Given the description of an element on the screen output the (x, y) to click on. 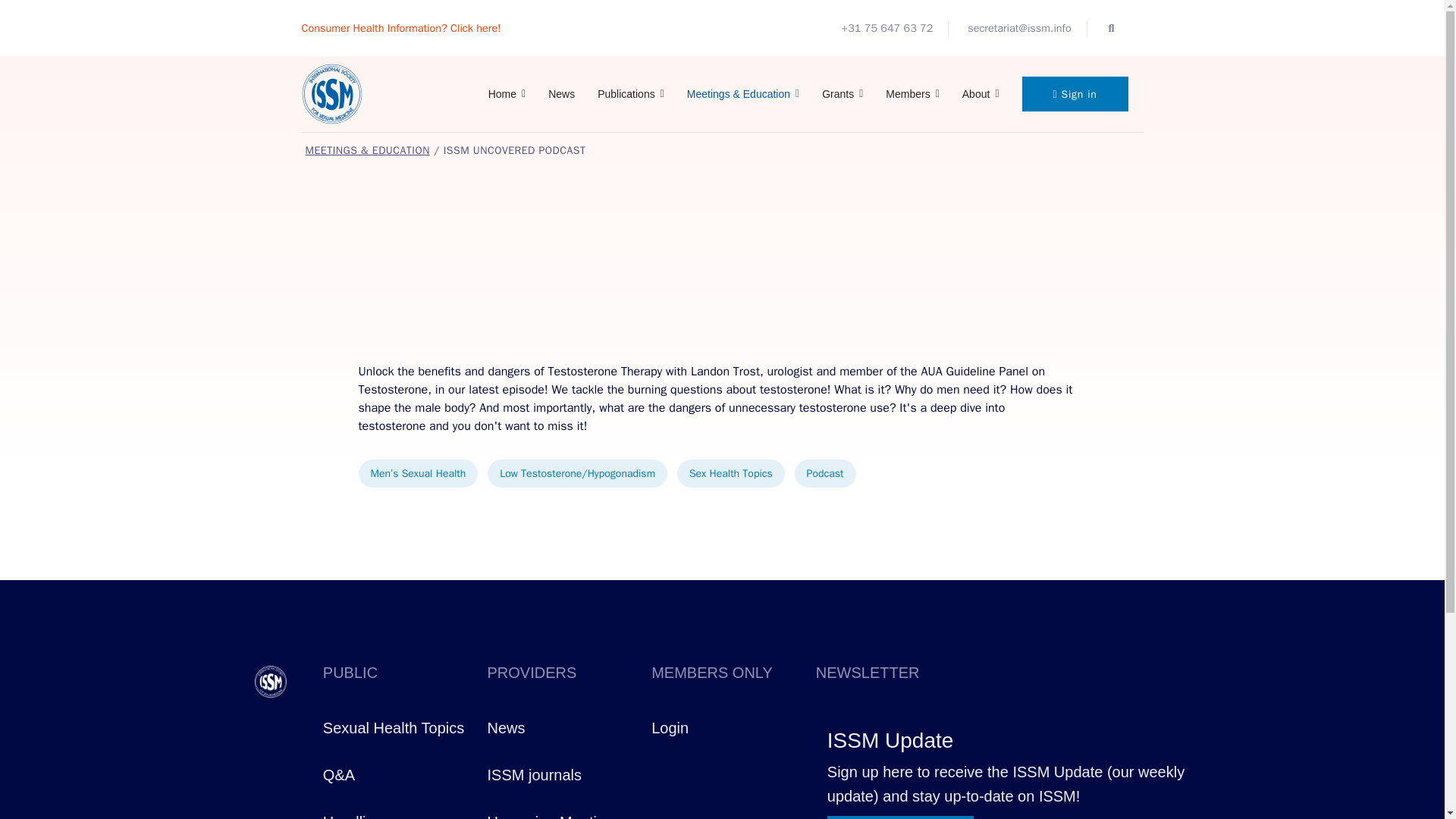
Consumer Health Information? Click here! (400, 28)
Publications (630, 93)
